Given the description of an element on the screen output the (x, y) to click on. 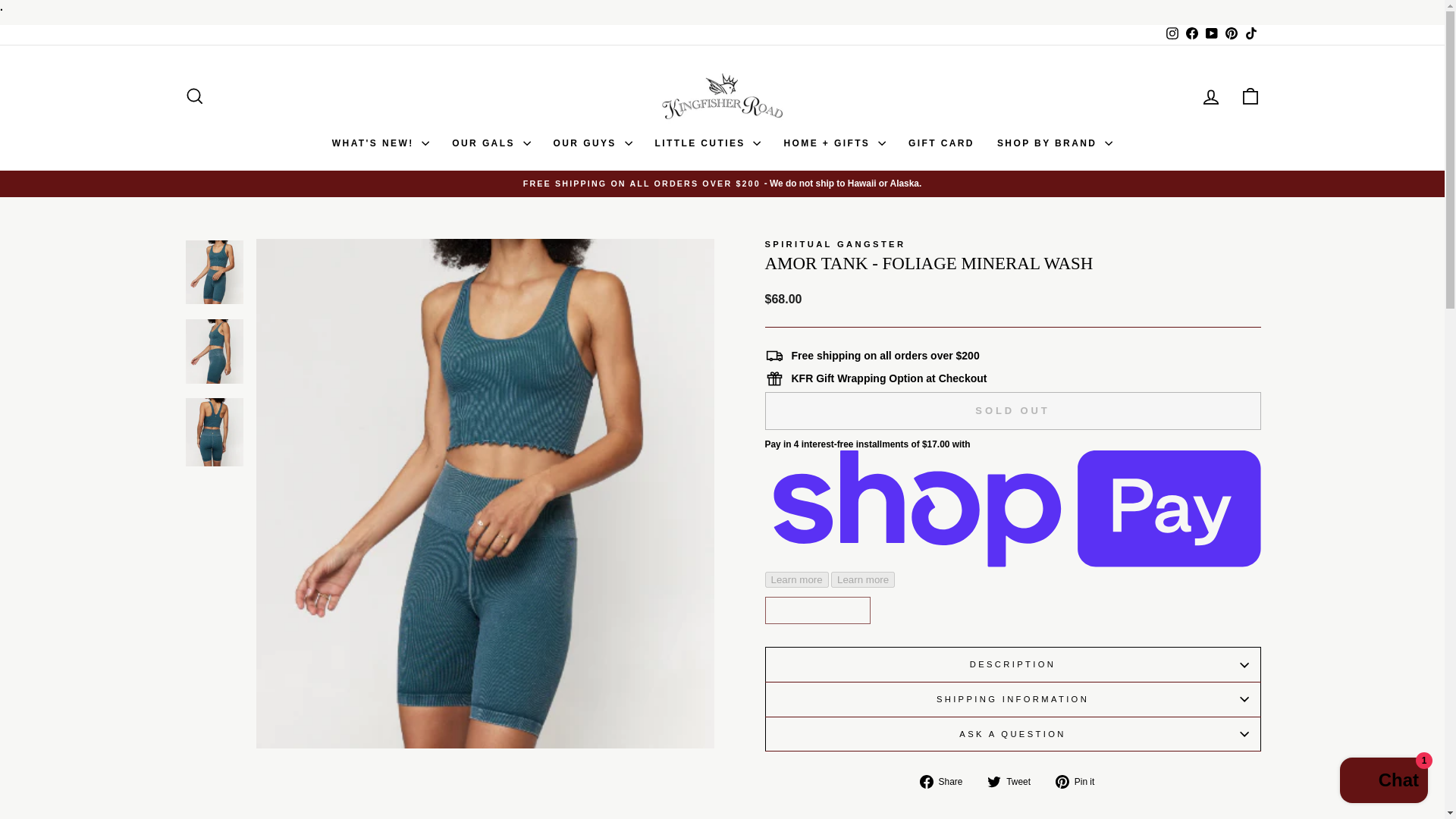
ACCOUNT (1210, 96)
Kingfisher Road on YouTube (1211, 35)
Share on Facebook (947, 780)
Shopify online store chat (1383, 781)
Tweet on Twitter (1014, 780)
ICON-SEARCH (194, 96)
Kingfisher Road on Instagram (1170, 35)
ICON-BAG-MINIMAL (1249, 96)
Kingfisher Road on Facebook (1190, 35)
Pin on Pinterest (1080, 780)
Kingfisher Road on TikTok (1250, 35)
Kingfisher Road on Pinterest (1230, 35)
instagram (1171, 33)
